Given the description of an element on the screen output the (x, y) to click on. 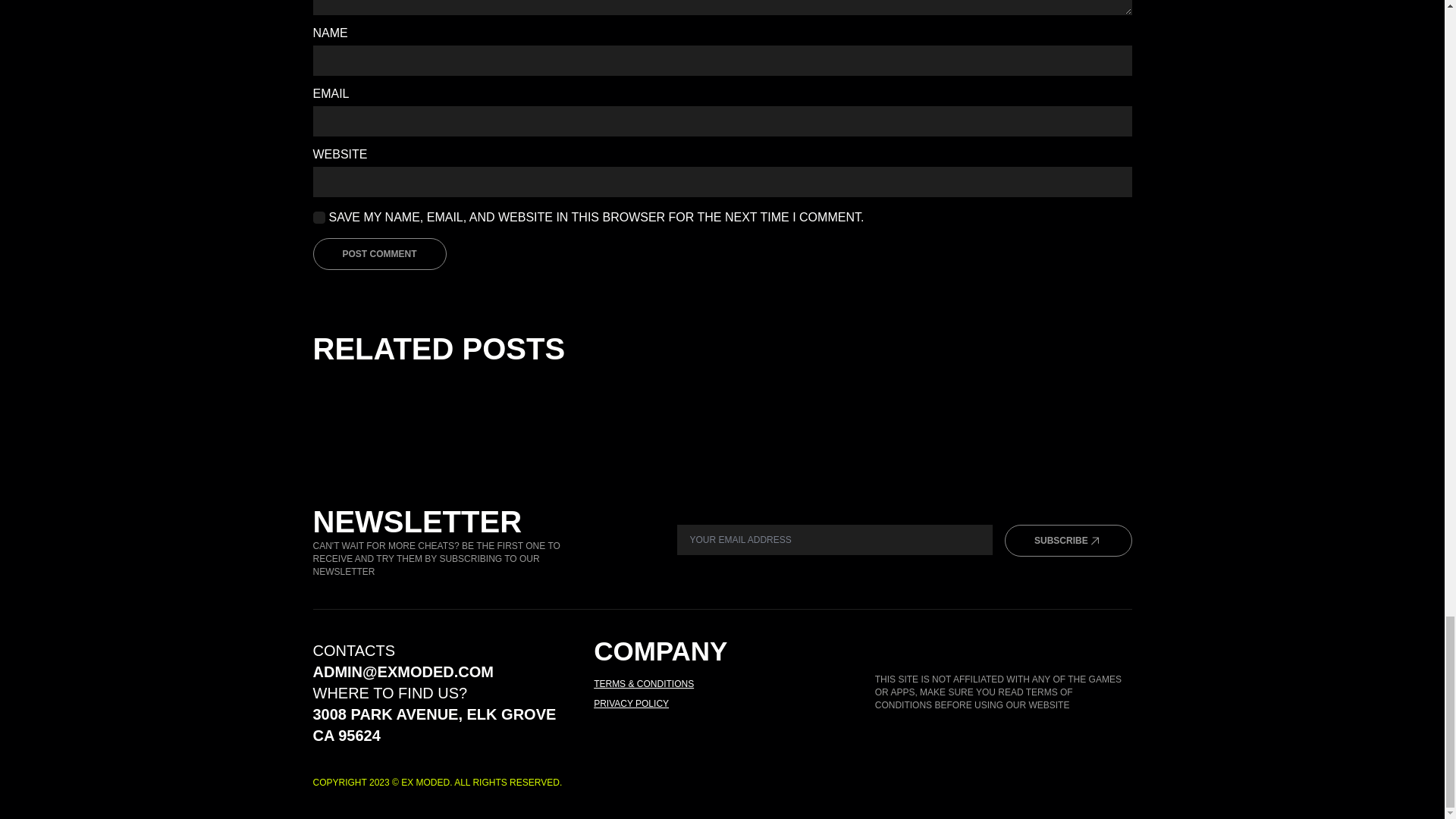
Post Comment (379, 254)
Post Comment (379, 254)
PRIVACY POLICY (631, 703)
yes (318, 217)
SUBSCRIBE (1067, 540)
